Given the description of an element on the screen output the (x, y) to click on. 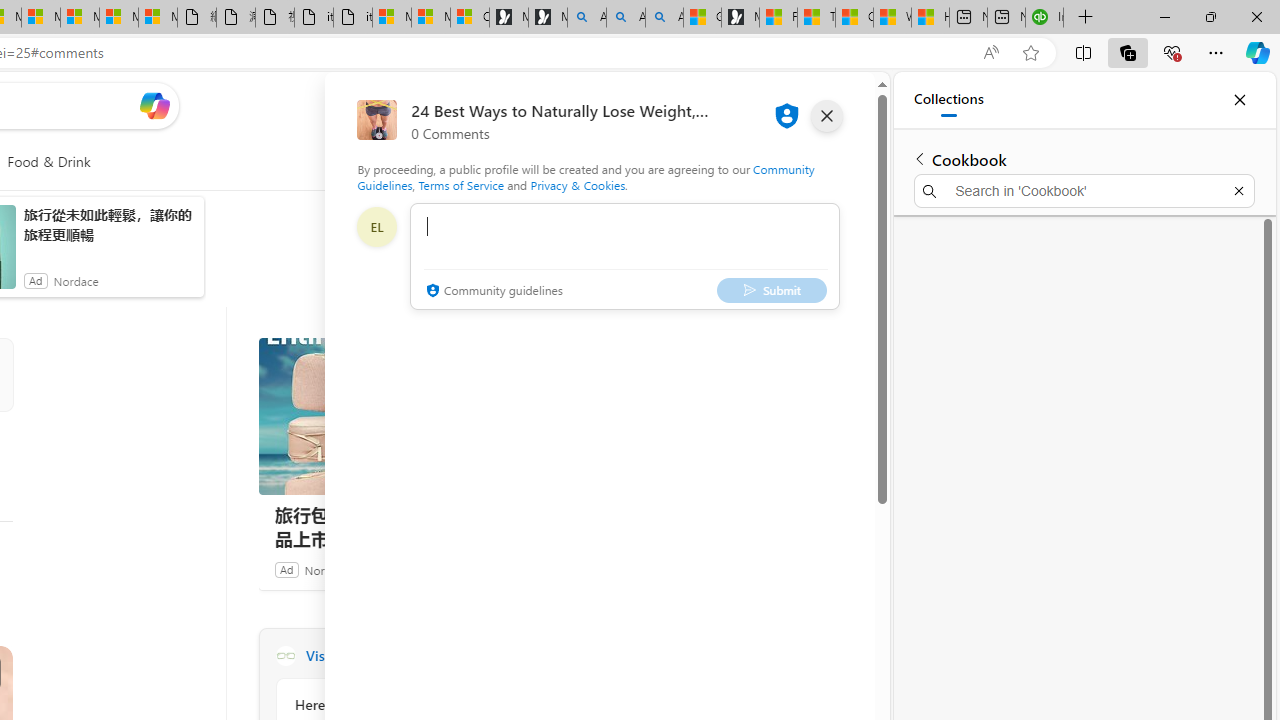
Exit search (1238, 190)
Terms of Service (461, 184)
Intuit QuickBooks Online - Quickbooks (1044, 17)
Food and Drink - MSN (778, 17)
